Given the description of an element on the screen output the (x, y) to click on. 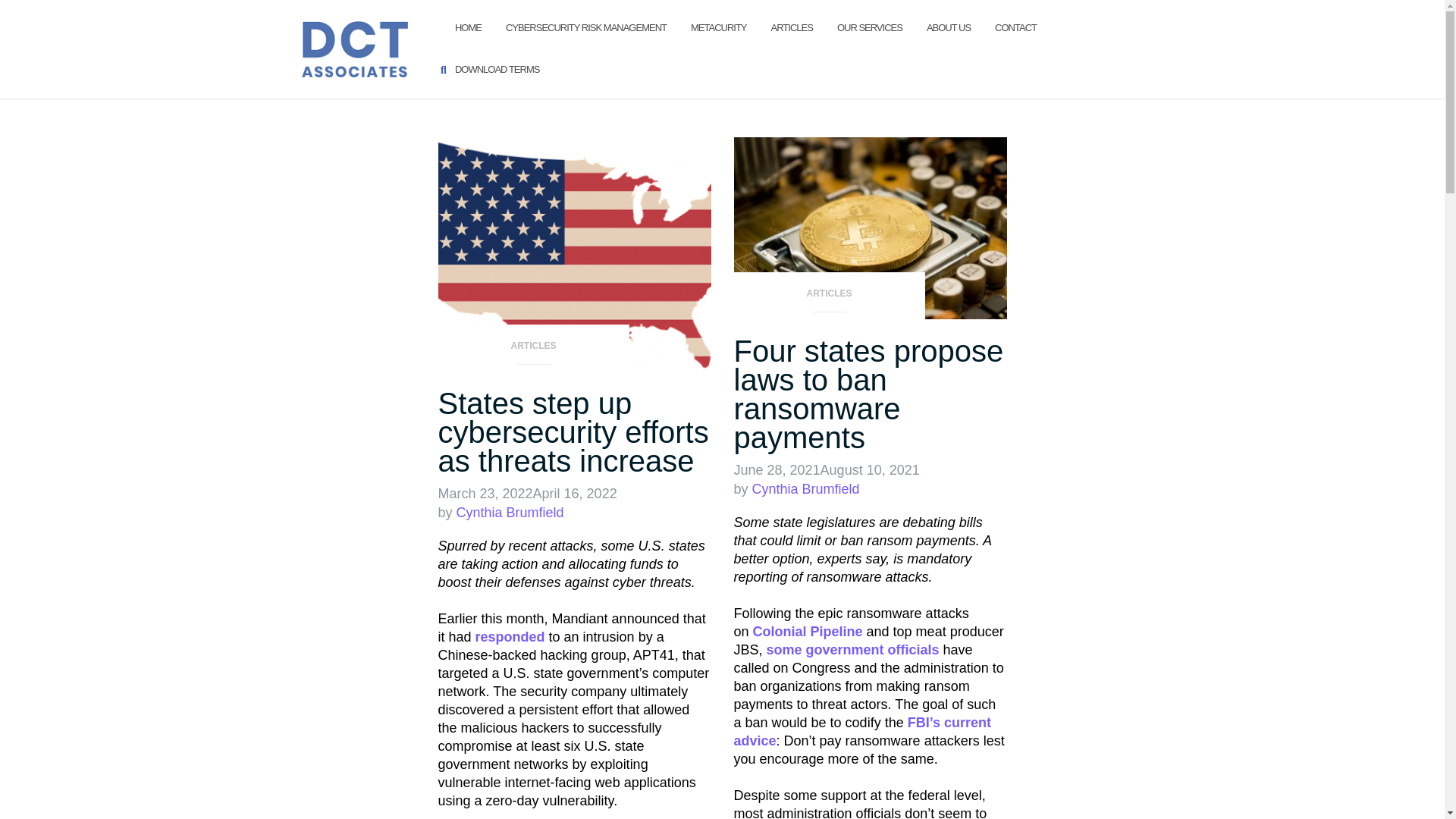
CYBERSECURITY RISK MANAGEMENT (585, 28)
Our Services (869, 28)
OUR SERVICES (869, 28)
Metacurity (718, 28)
Download Terms (496, 69)
States step up cybersecurity efforts as threats increase (573, 431)
Cybersecurity Risk Management (585, 28)
ARTICLES (828, 298)
ARTICLES (533, 350)
CONTACT (1015, 28)
